Given the description of an element on the screen output the (x, y) to click on. 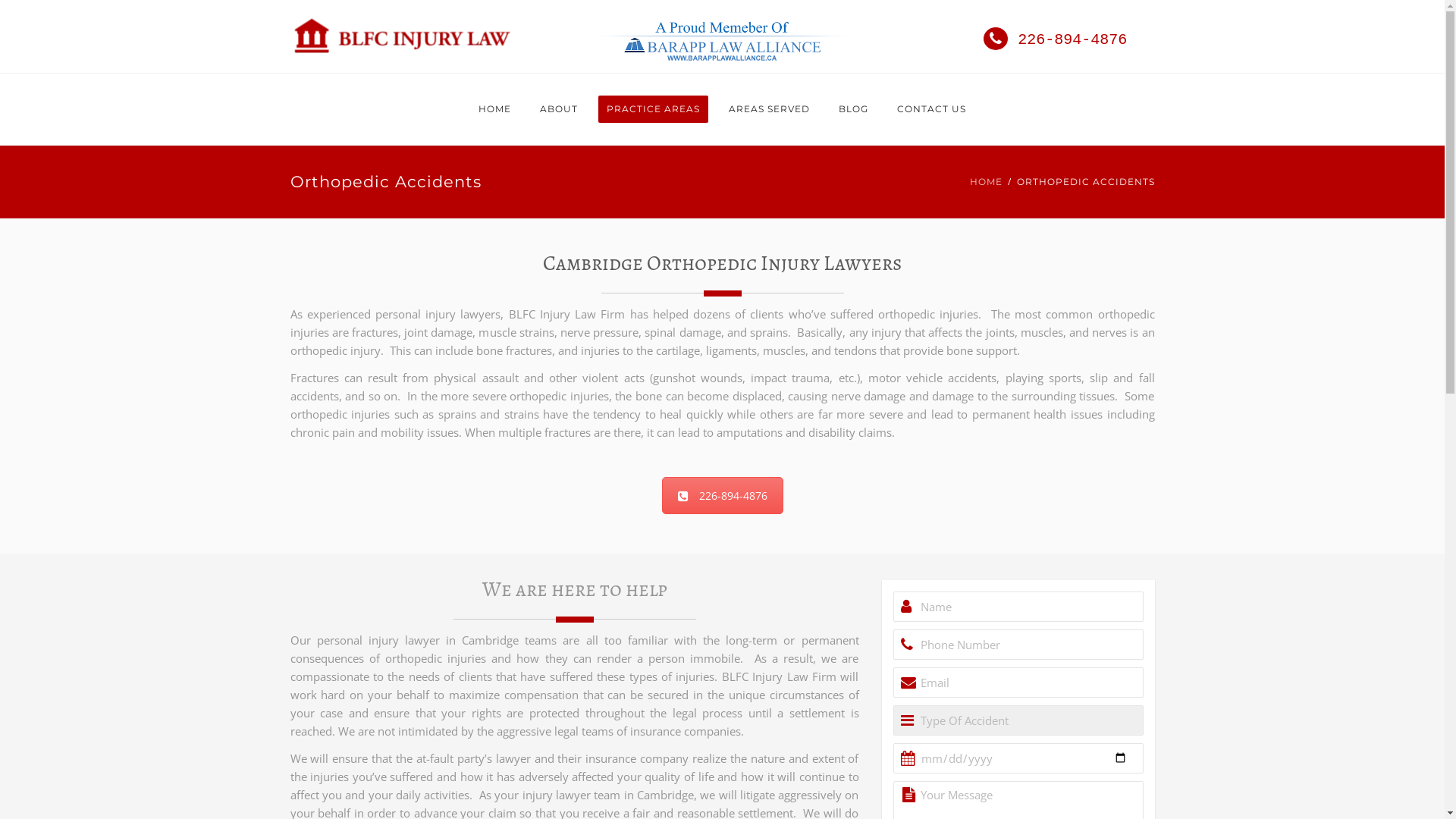
PRACTICE AREAS Element type: text (653, 108)
226-894-4876 Element type: text (721, 495)
CONTACT US Element type: text (931, 108)
HOME Element type: text (494, 108)
226-894-4876 Element type: text (1054, 39)
AREAS SERVED Element type: text (769, 108)
ABOUT Element type: text (558, 108)
BLOG Element type: text (853, 108)
HOME Element type: text (985, 181)
